Given the description of an element on the screen output the (x, y) to click on. 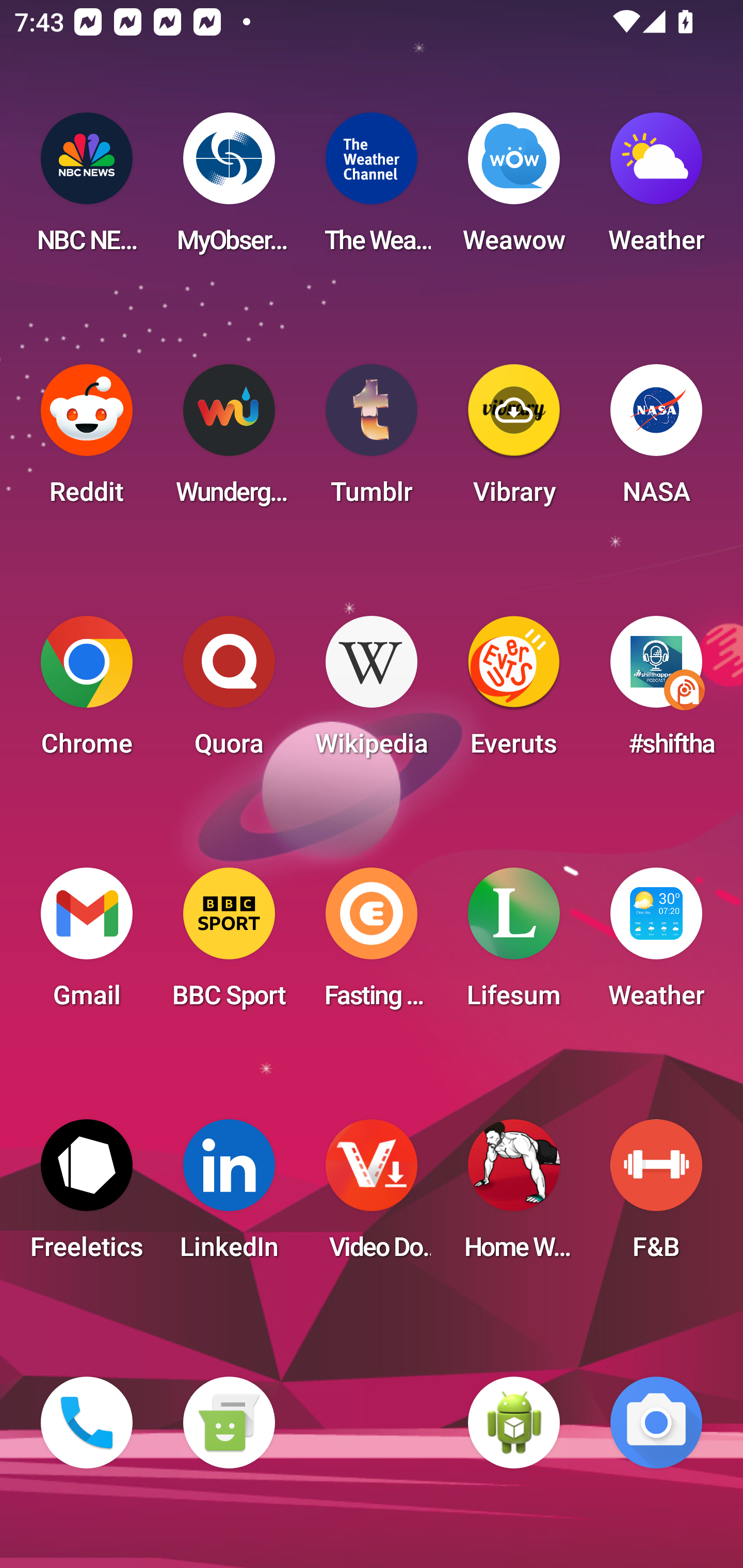
NBC NEWS (86, 188)
MyObservatory (228, 188)
The Weather Channel (371, 188)
Weawow (513, 188)
Weather (656, 188)
Reddit (86, 440)
Wunderground (228, 440)
Tumblr (371, 440)
Vibrary (513, 440)
NASA (656, 440)
Chrome (86, 692)
Quora (228, 692)
Wikipedia (371, 692)
Everuts (513, 692)
#shifthappens in the Digital Workplace Podcast (656, 692)
Gmail (86, 943)
BBC Sport (228, 943)
Fasting Coach (371, 943)
Lifesum (513, 943)
Weather (656, 943)
Freeletics (86, 1195)
LinkedIn (228, 1195)
Video Downloader & Ace Player (371, 1195)
Home Workout (513, 1195)
F&B (656, 1195)
Phone (86, 1422)
Messaging (228, 1422)
WebView Browser Tester (513, 1422)
Camera (656, 1422)
